Given the description of an element on the screen output the (x, y) to click on. 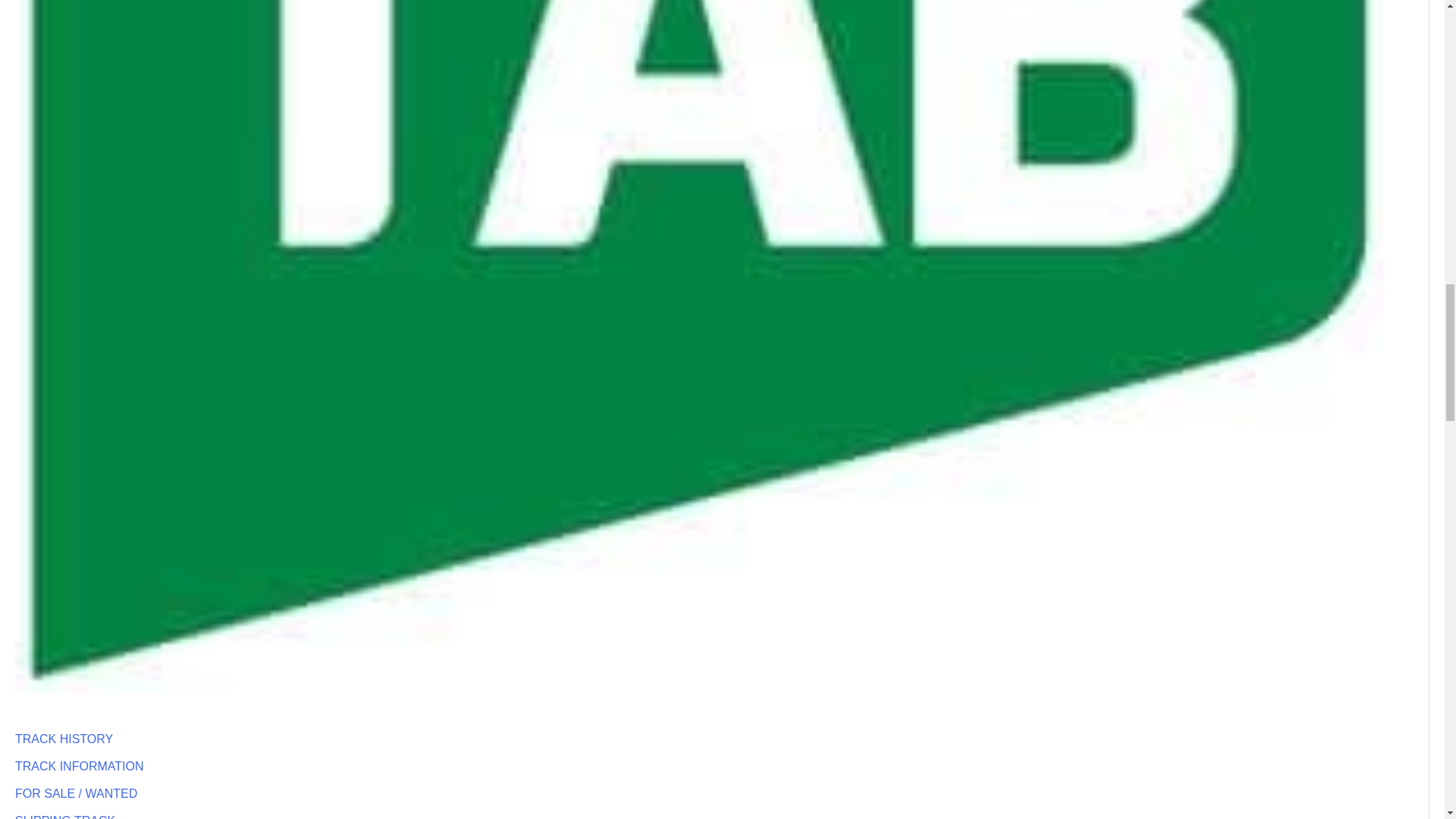
TRACK HISTORY (63, 738)
TRACK INFORMATION (78, 766)
SLIPPING TRACK (64, 816)
